Given the description of an element on the screen output the (x, y) to click on. 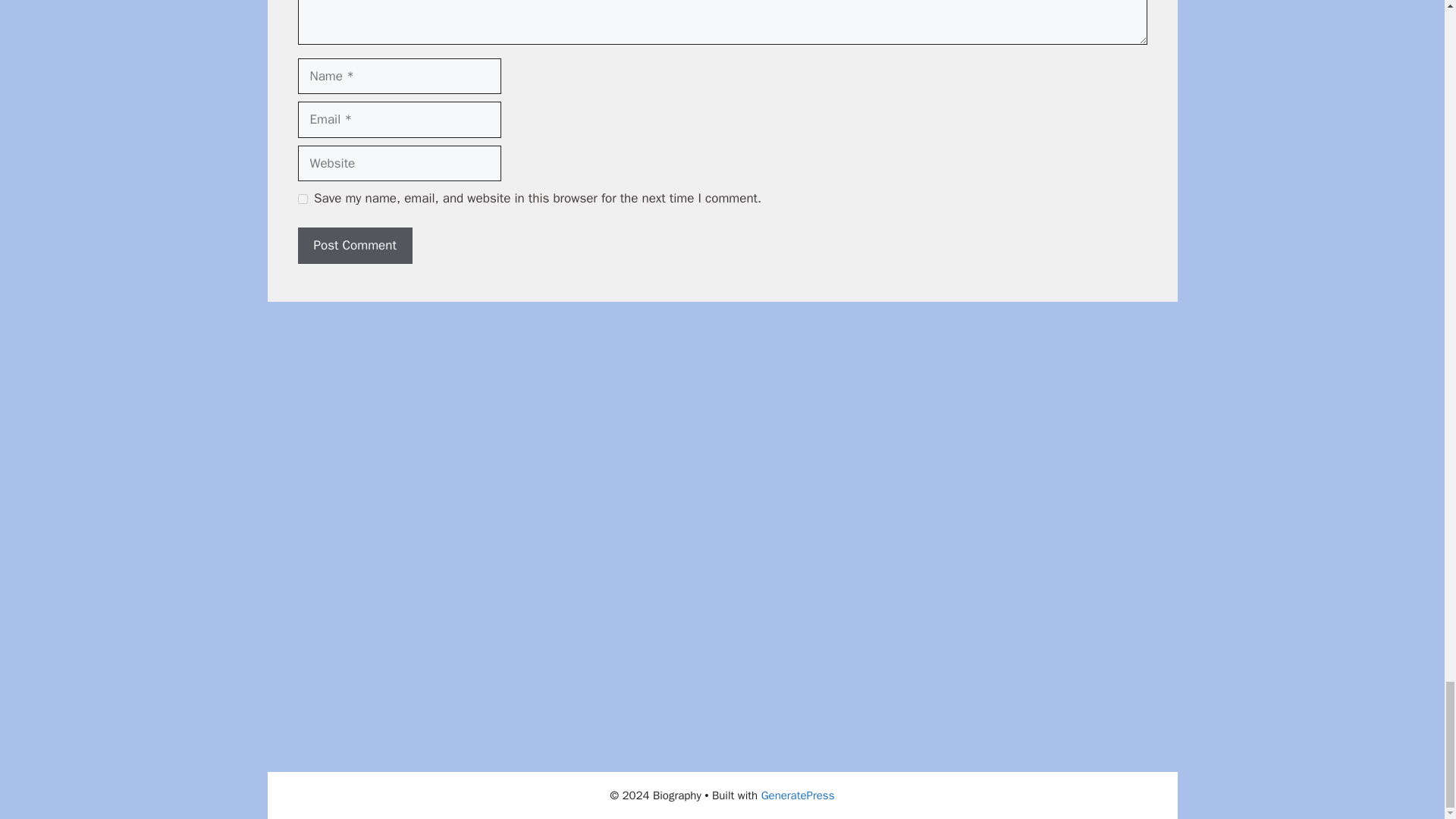
Post Comment (354, 245)
Post Comment (354, 245)
yes (302, 198)
